Given the description of an element on the screen output the (x, y) to click on. 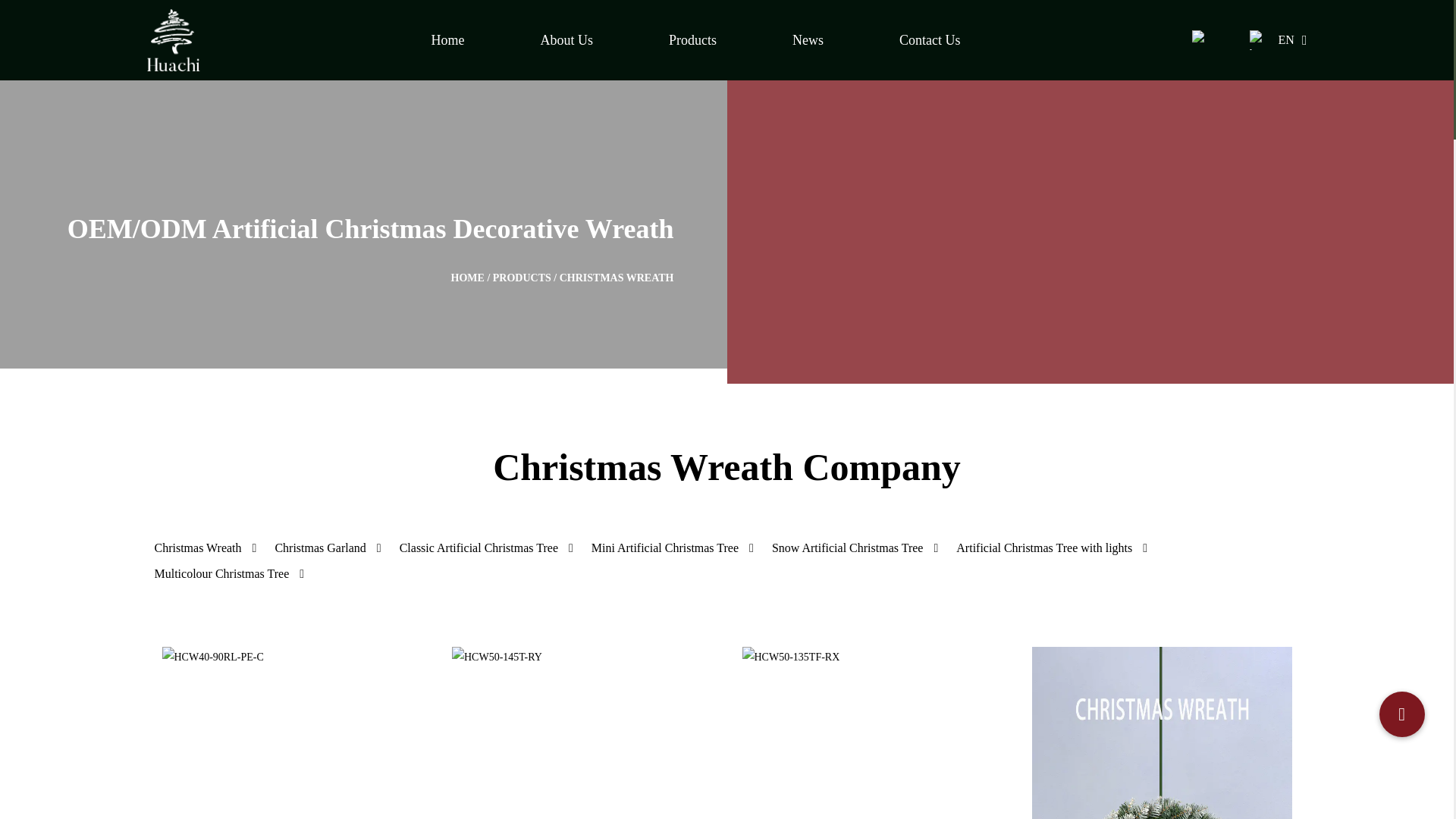
Contact Us (929, 39)
Products (692, 39)
About Us (567, 39)
